Given the description of an element on the screen output the (x, y) to click on. 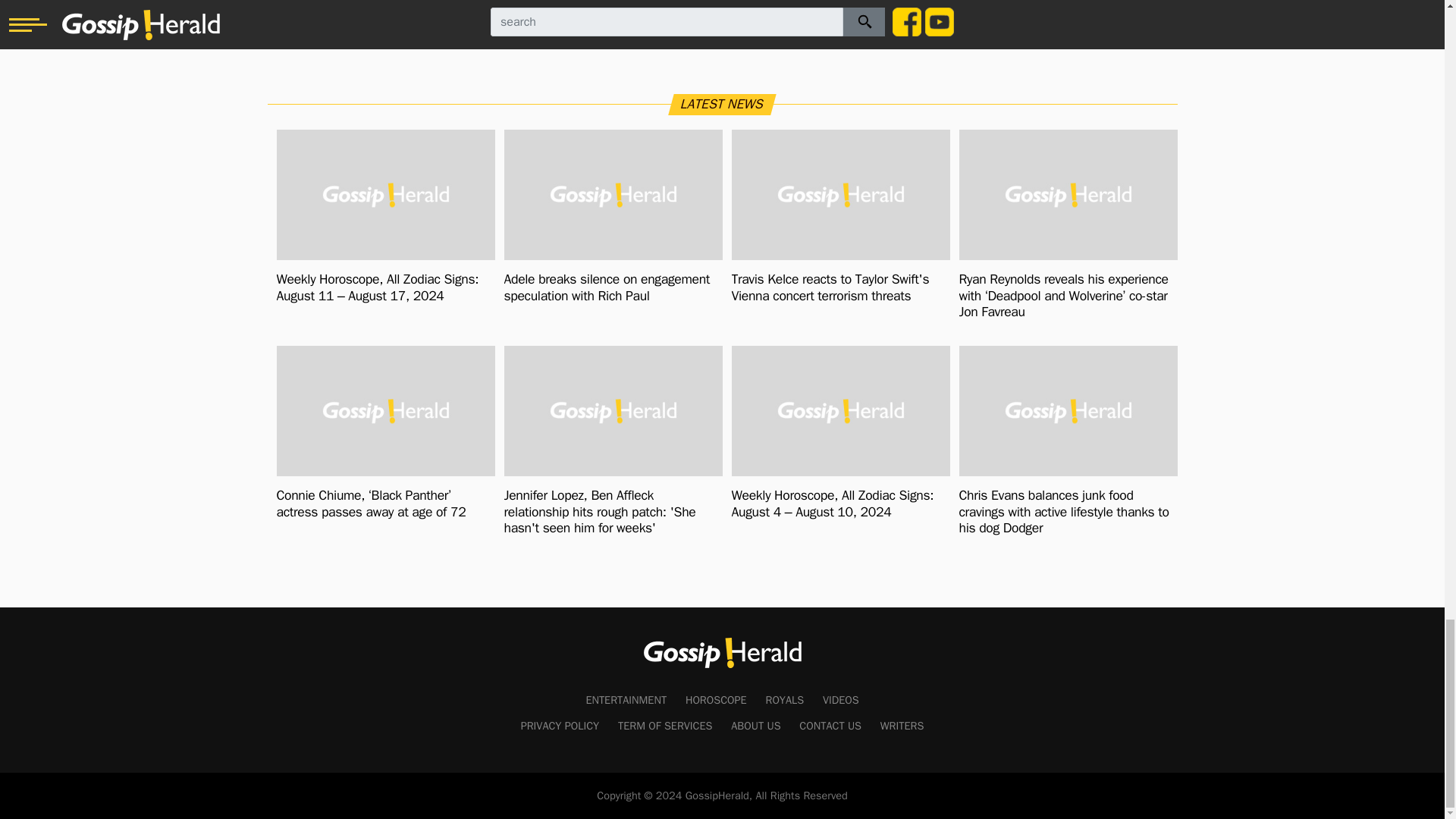
Weekly Horoscope, All Zodiac Signs: July 21 - July 27, 2024 (494, 9)
Weekly Horoscope, All Zodiac Signs: July 14 - July 20, 2024 (653, 9)
Weekly Horoscope, All Zodiac Signs: June 29 - July 6, 2024 (813, 2)
